Given the description of an element on the screen output the (x, y) to click on. 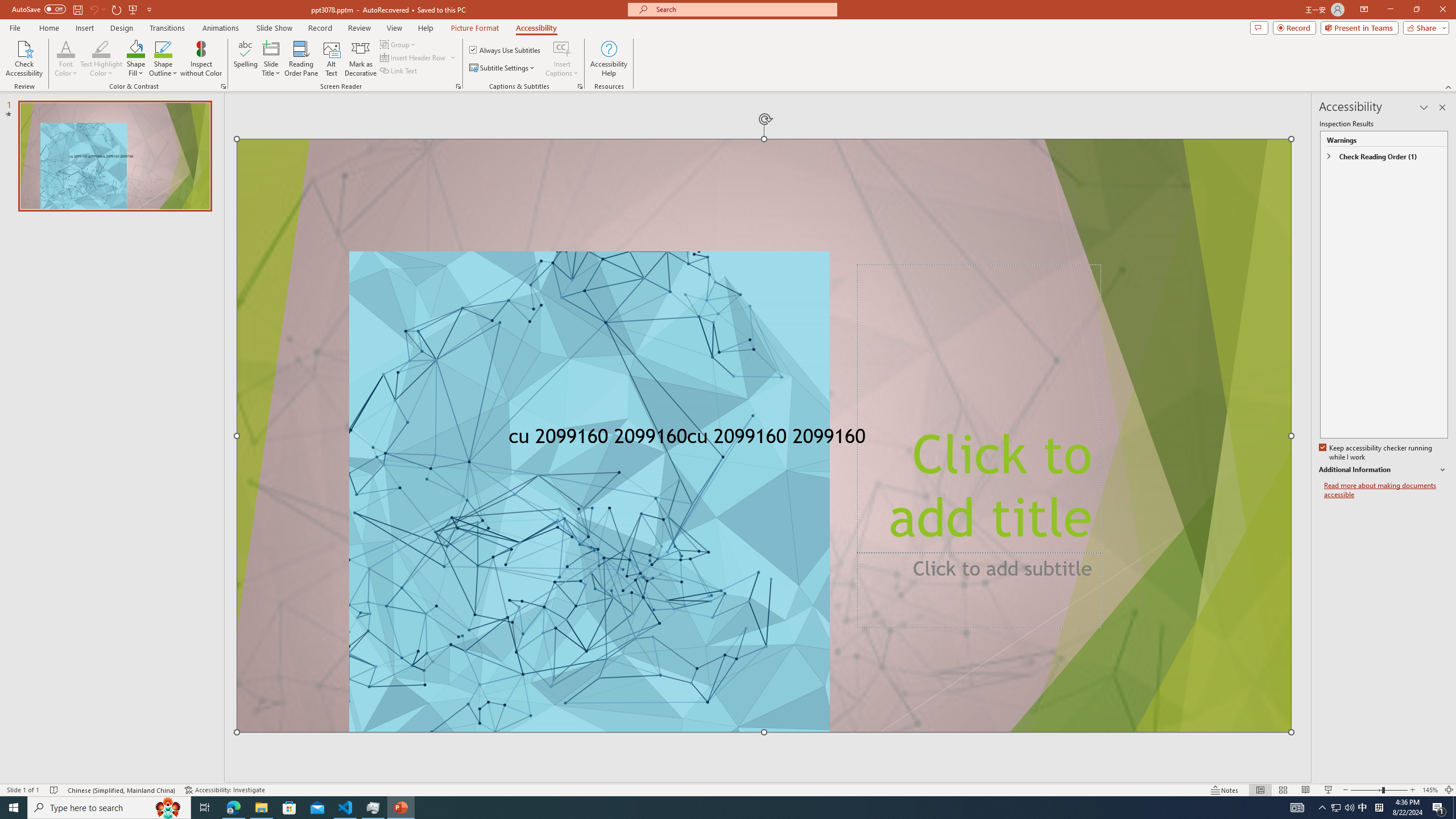
Spelling... (245, 58)
Insert Header Row (418, 56)
Read more about making documents accessible (1385, 489)
Insert Captions (561, 48)
Check Accessibility (23, 58)
